Given the description of an element on the screen output the (x, y) to click on. 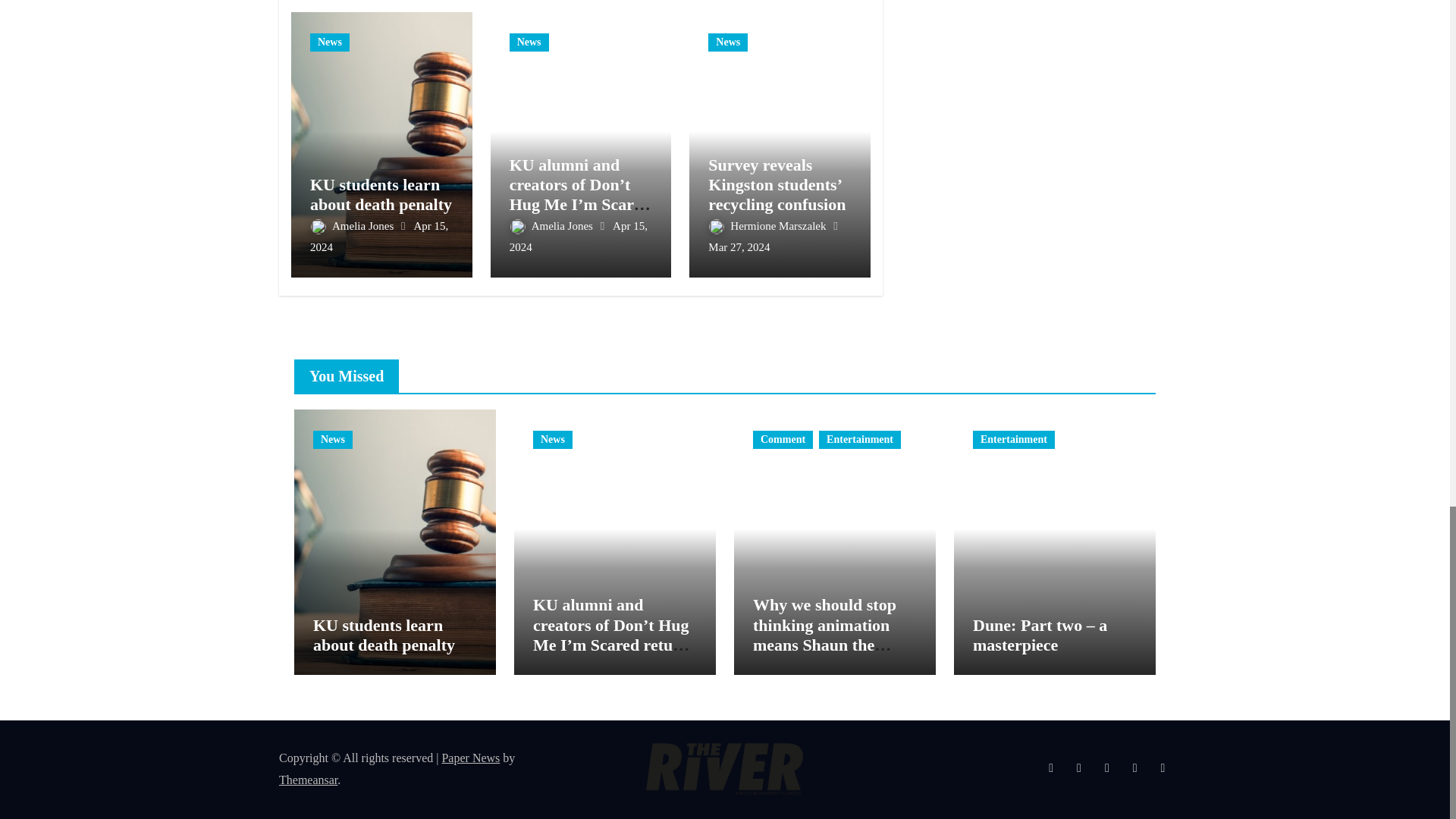
Permalink to: KU students learn about death penalty (380, 194)
